Given the description of an element on the screen output the (x, y) to click on. 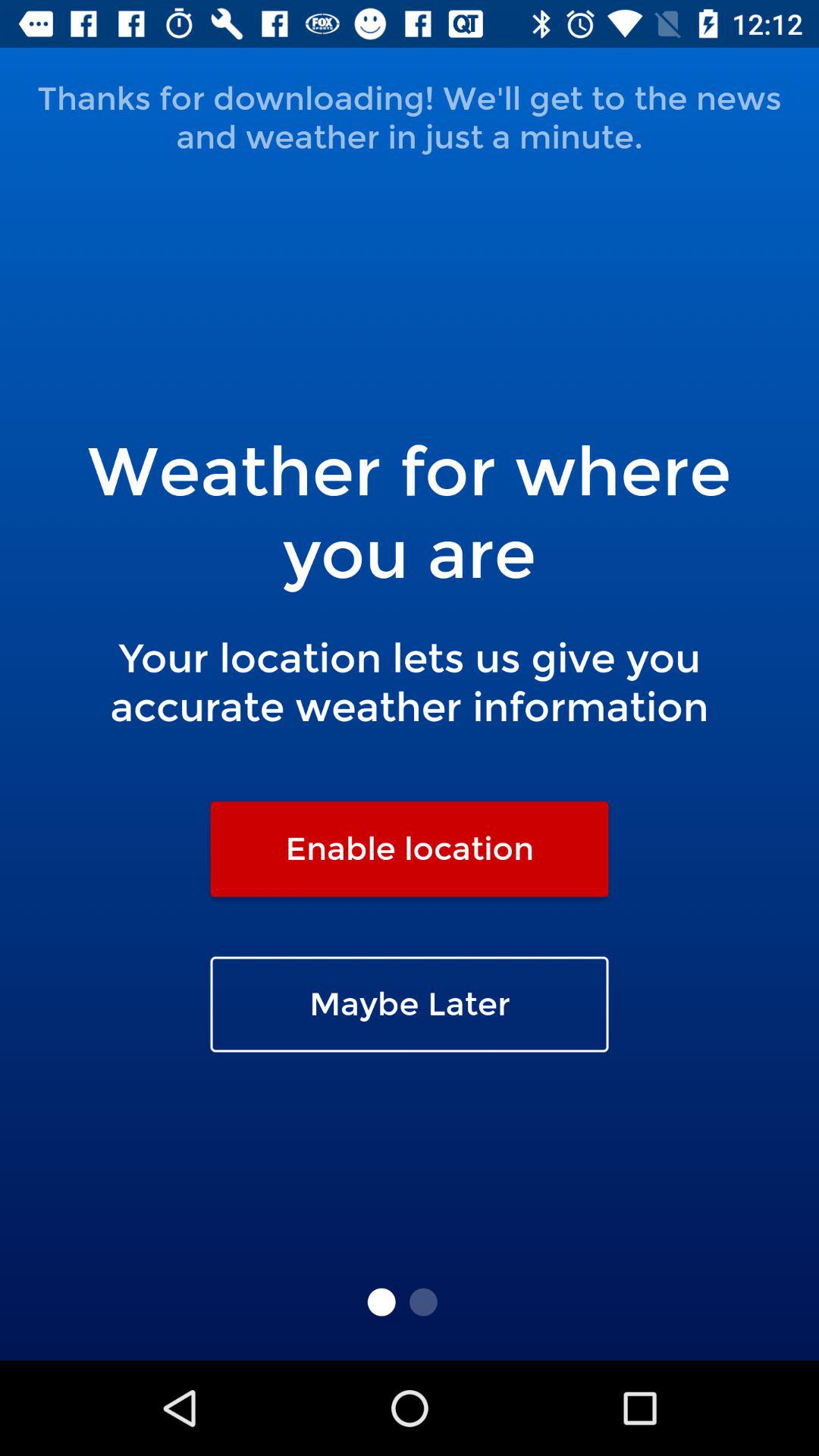
launch the item below the enable location icon (409, 1004)
